Given the description of an element on the screen output the (x, y) to click on. 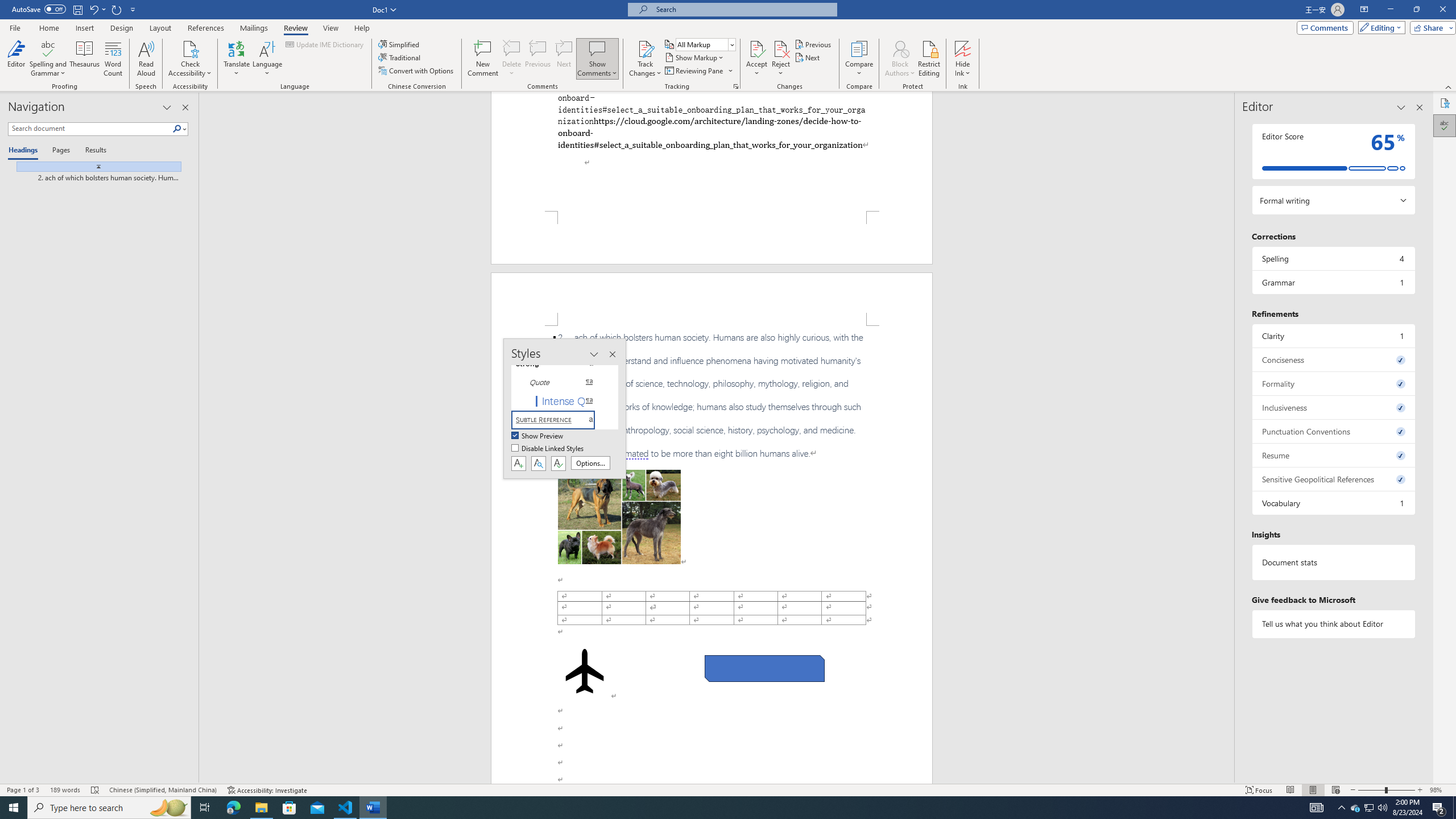
Print Layout (1312, 790)
Quote (559, 382)
Show Markup (695, 56)
Track Changes (644, 58)
Simplified (400, 44)
Restore Down (1416, 9)
Hide Ink (962, 58)
Reviewing Pane (694, 69)
Convert with Options... (417, 69)
Read Aloud (145, 58)
Search document (89, 128)
Traditional (400, 56)
View (330, 28)
Search (179, 128)
Reject (780, 58)
